Given the description of an element on the screen output the (x, y) to click on. 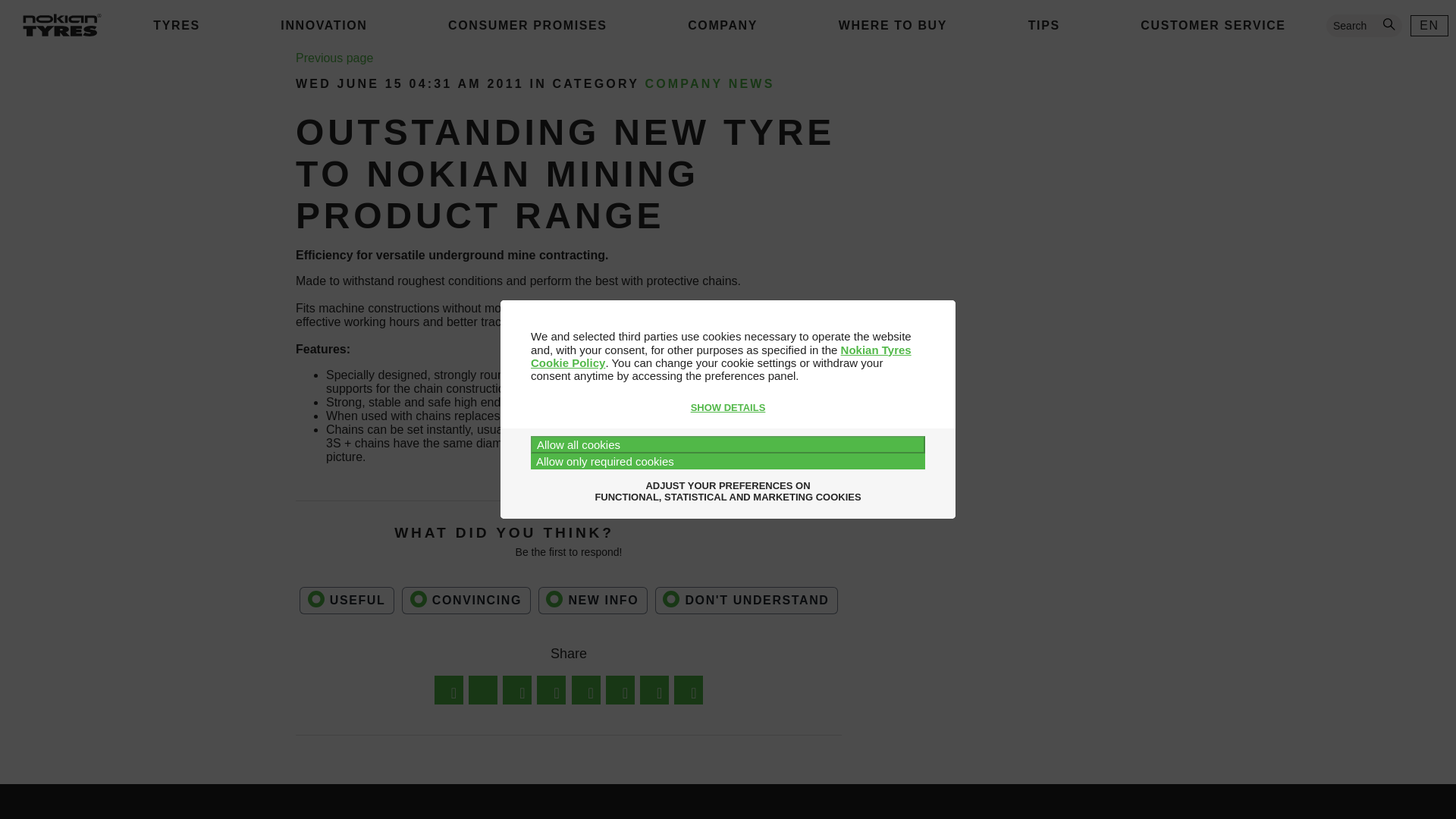
Nokian Tyres Cookie Policy (721, 356)
Allow all cookies (727, 444)
SHOW DETAILS (727, 407)
Allow only required cookies (727, 461)
